Given the description of an element on the screen output the (x, y) to click on. 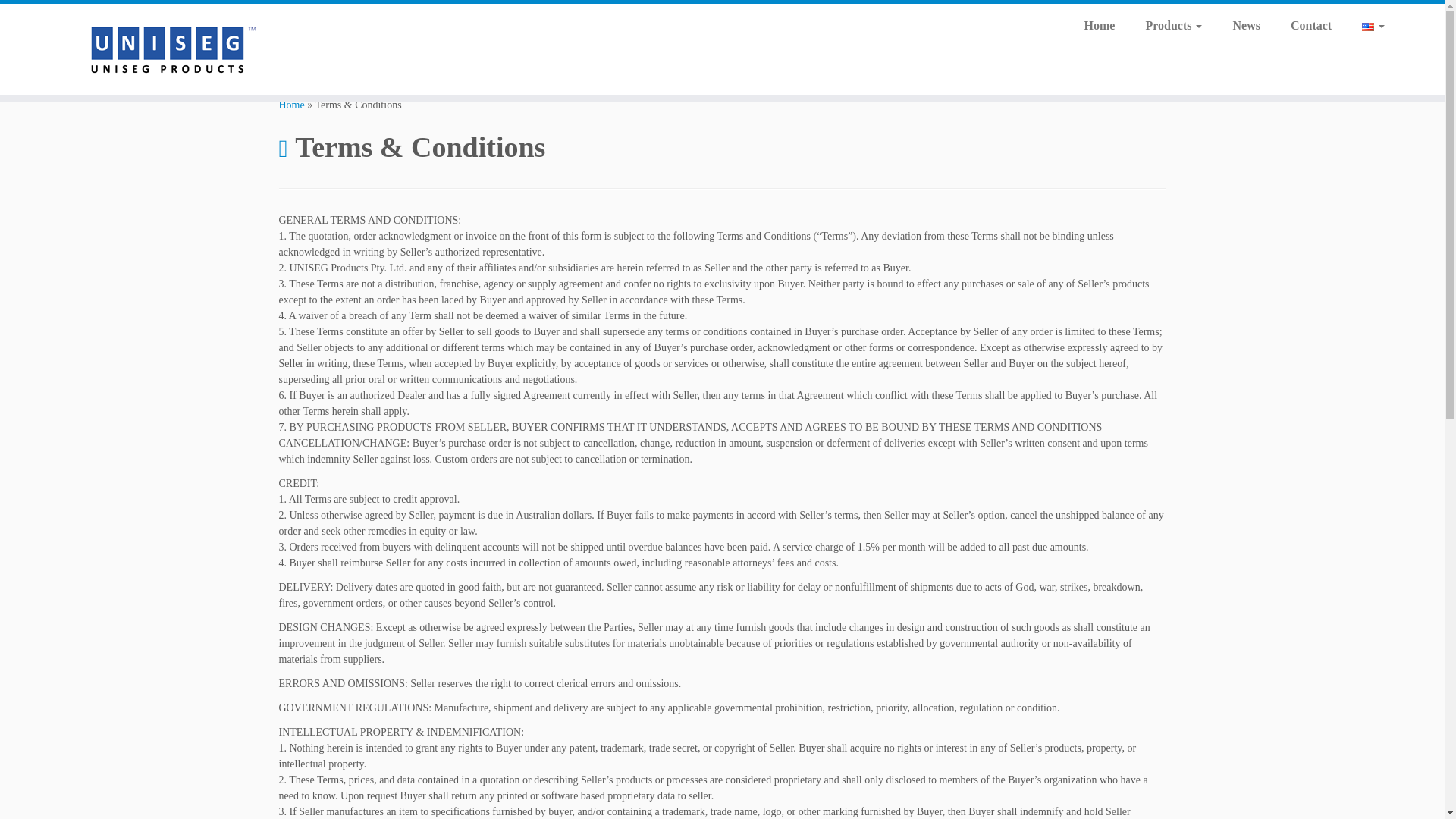
Contact (1310, 25)
Home (291, 104)
Products (1173, 25)
News (1246, 25)
UNISEG Products (291, 104)
Home (1099, 25)
